Given the description of an element on the screen output the (x, y) to click on. 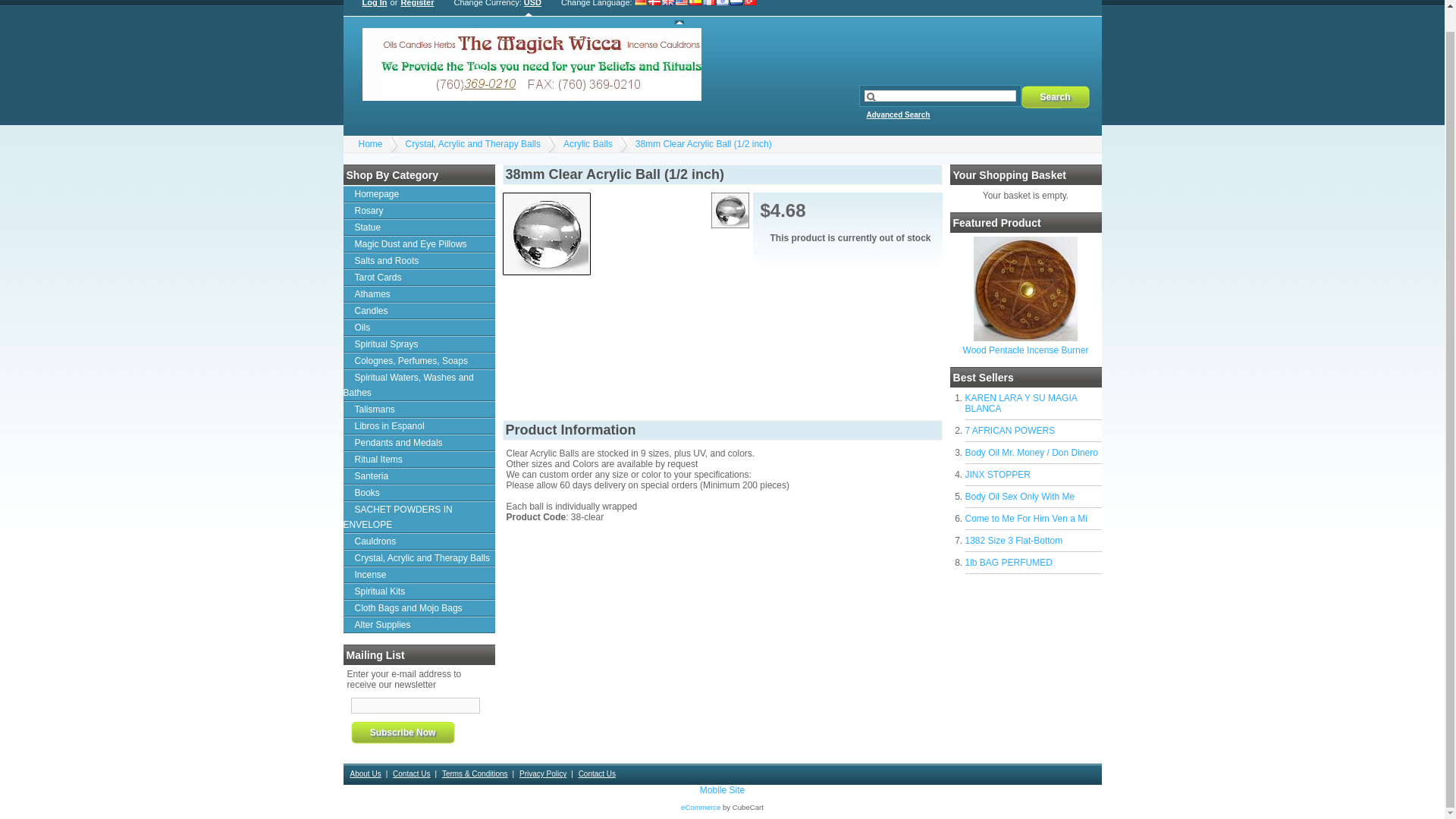
Acrylic Balls (587, 143)
Advanced Search (897, 123)
Statue (418, 227)
Register (415, 7)
Athames (418, 293)
Search our store (940, 95)
Candles (418, 310)
Homepage (418, 193)
US Dollars (532, 7)
Search (1054, 96)
Rosary (418, 210)
Search (1054, 96)
Magic Dust and Eye Pillows (418, 243)
Oils (418, 327)
Register (415, 7)
